Given the description of an element on the screen output the (x, y) to click on. 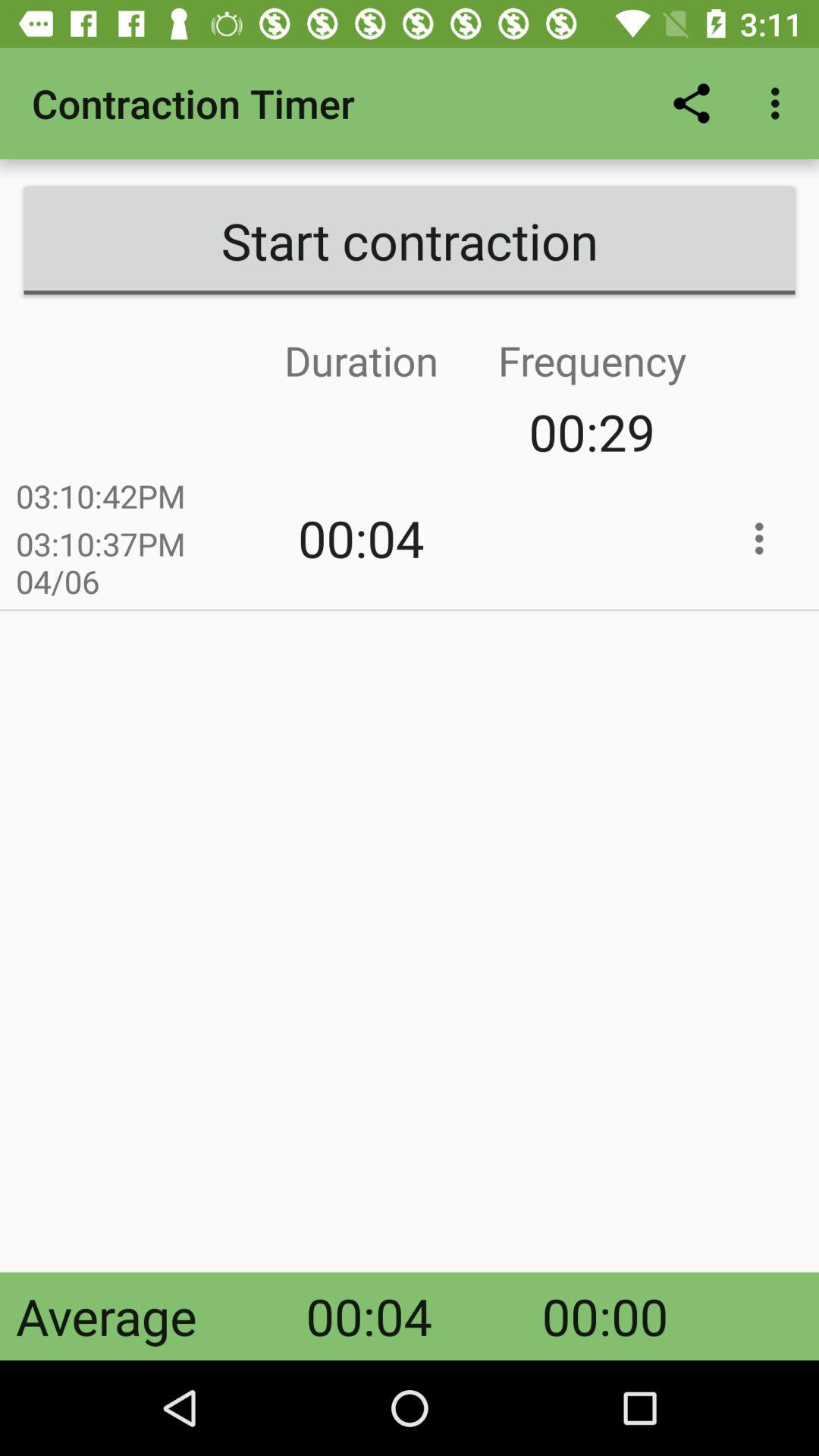
turn off start contraction (409, 240)
